Given the description of an element on the screen output the (x, y) to click on. 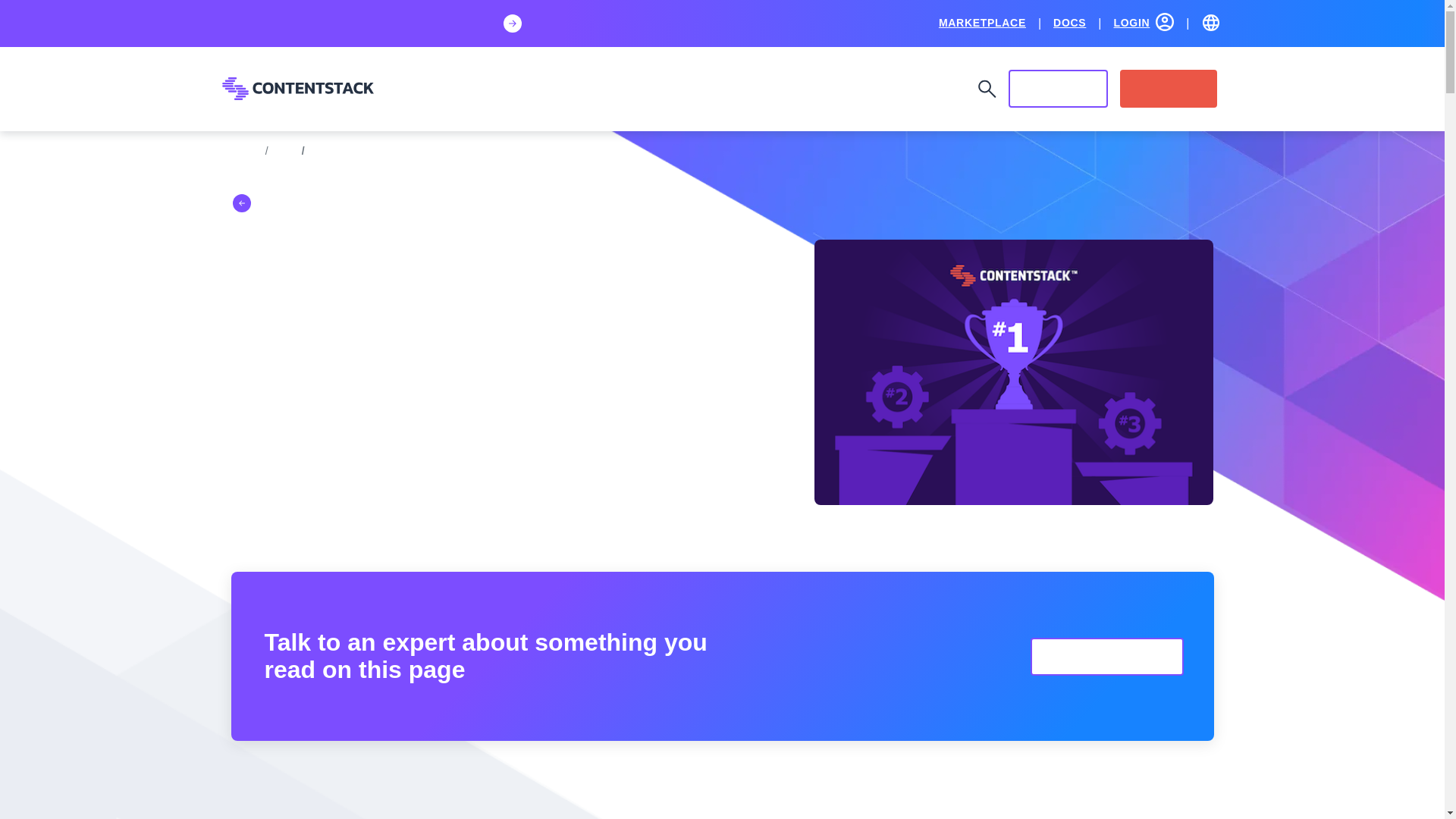
Platform (424, 89)
contentstack.com (296, 88)
MARKETPLACE (982, 22)
DOCS (1069, 22)
Join us in London for ContentCon Europe (363, 23)
LOGIN (1143, 22)
